Given the description of an element on the screen output the (x, y) to click on. 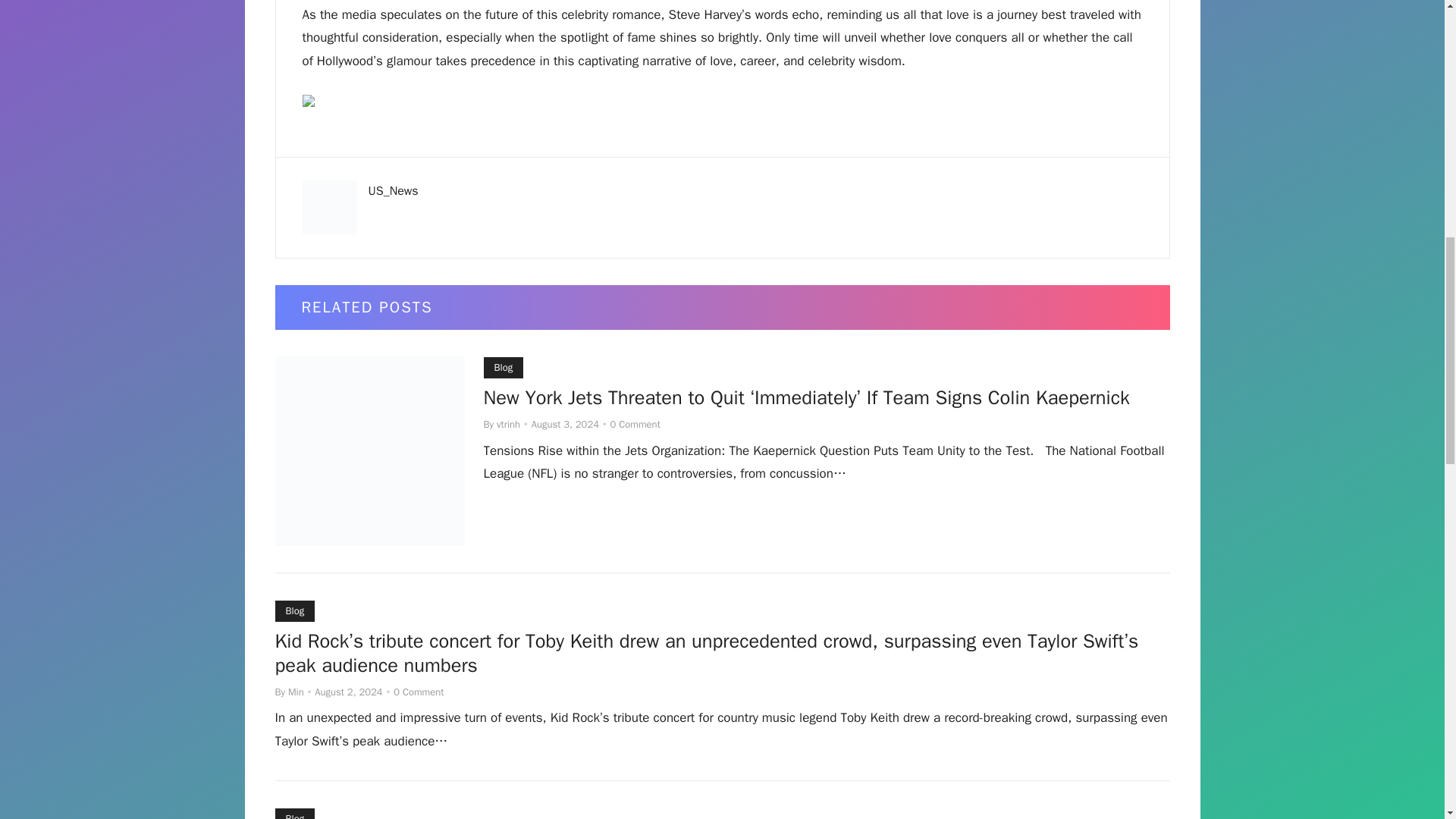
Blog (294, 813)
Posts by vtrinh (507, 423)
Blog (503, 367)
0 Comment (635, 423)
Posts by Min (296, 691)
Blog (294, 610)
Min (296, 691)
0 Comment (418, 691)
vtrinh (507, 423)
